Given the description of an element on the screen output the (x, y) to click on. 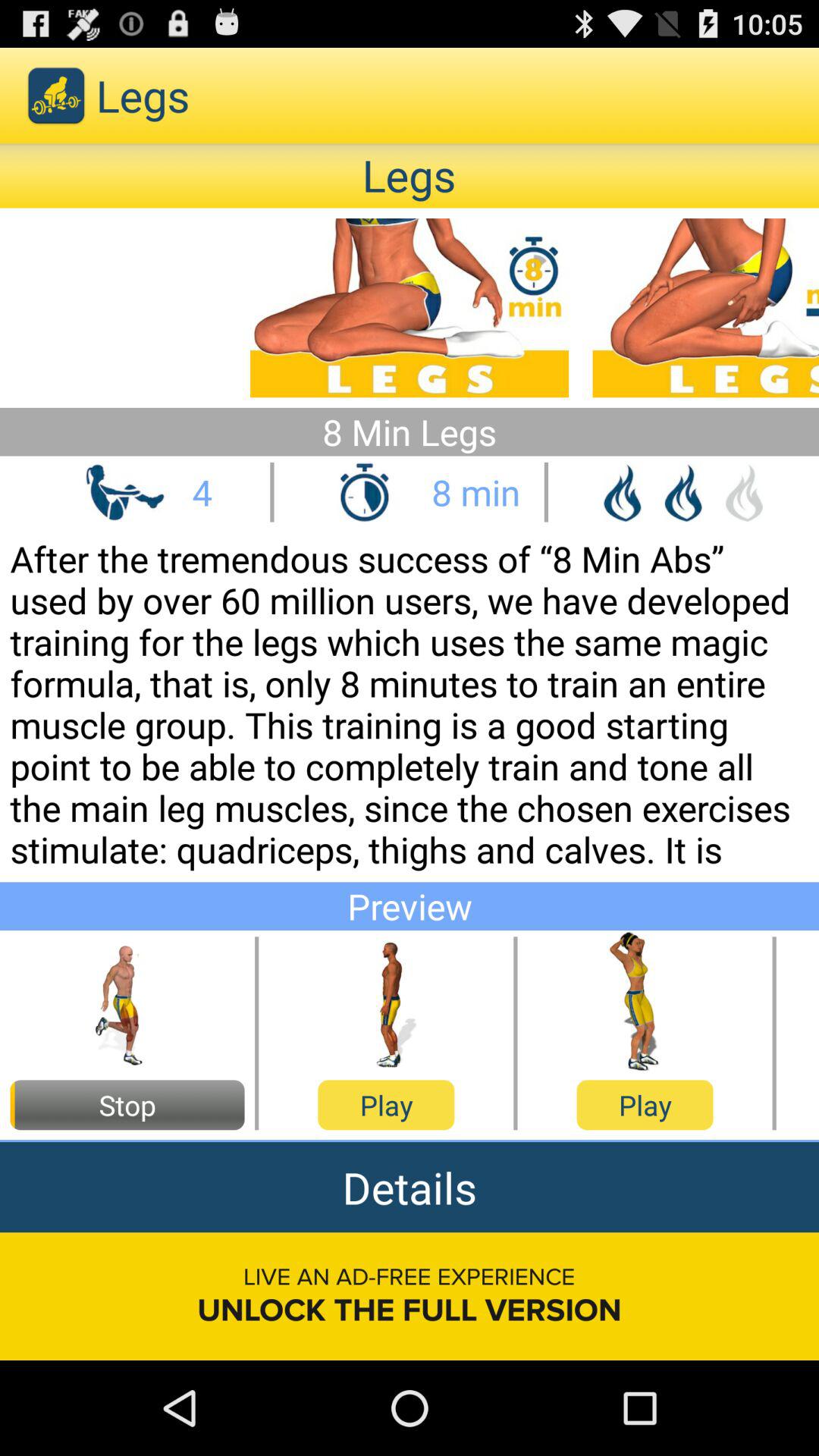
choose icon above live an ad (409, 1187)
